Given the description of an element on the screen output the (x, y) to click on. 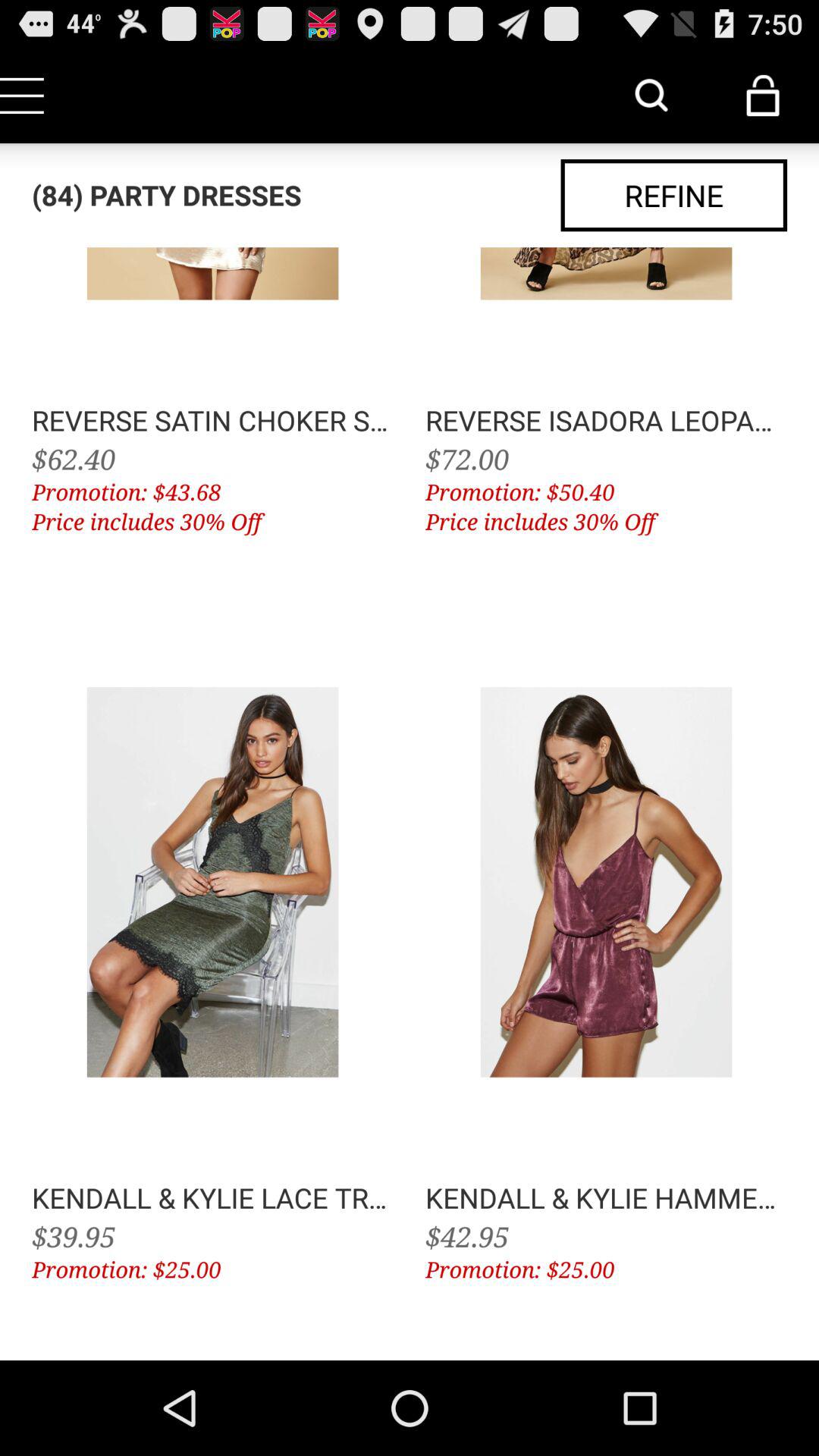
turn on item to the right of the (84) party dresses app (673, 195)
